Given the description of an element on the screen output the (x, y) to click on. 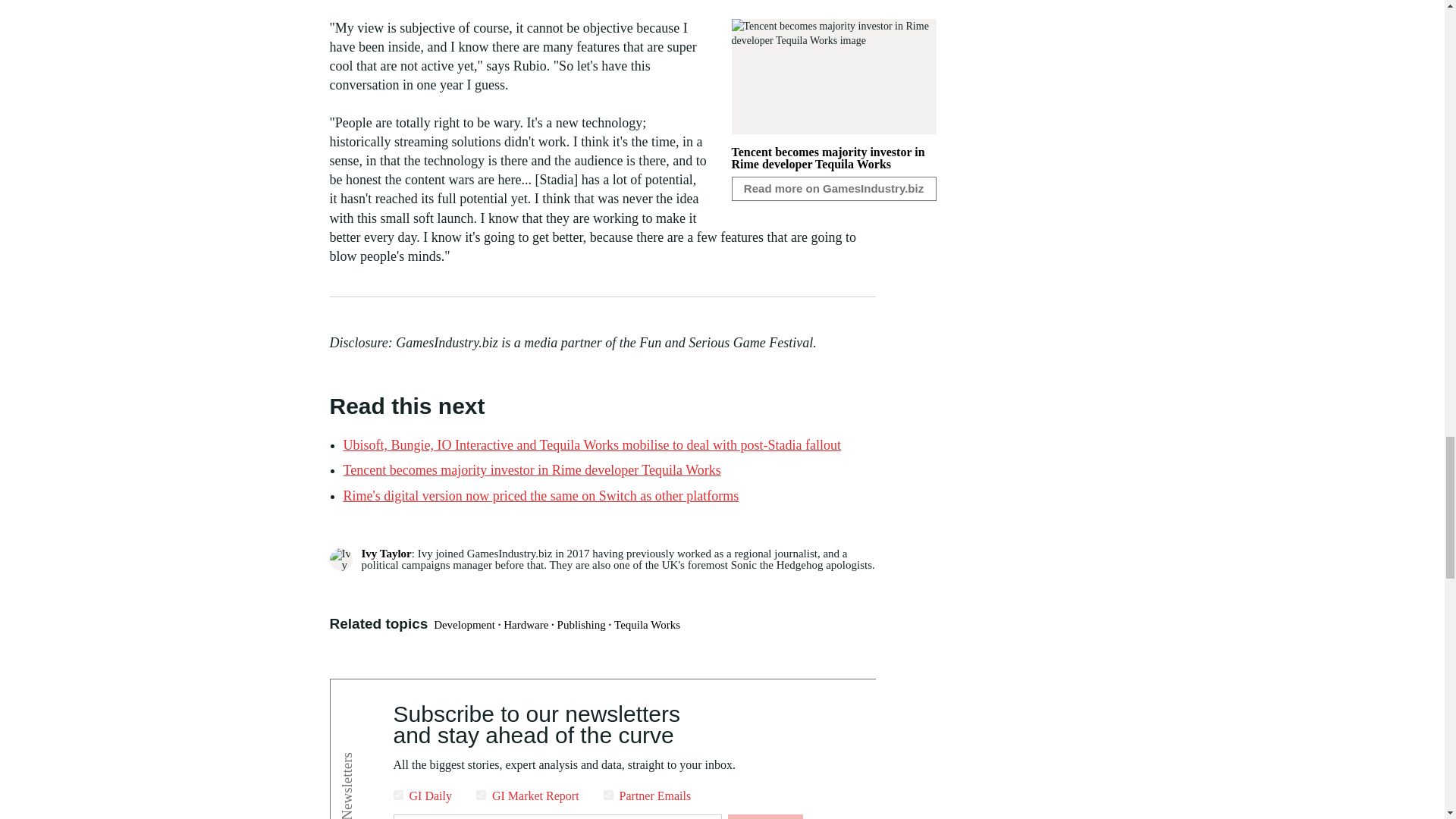
on (608, 795)
on (398, 795)
Tequila Works (646, 624)
on (481, 795)
Read more on GamesIndustry.biz (833, 188)
Development (464, 624)
Ivy Taylor (385, 553)
